Given the description of an element on the screen output the (x, y) to click on. 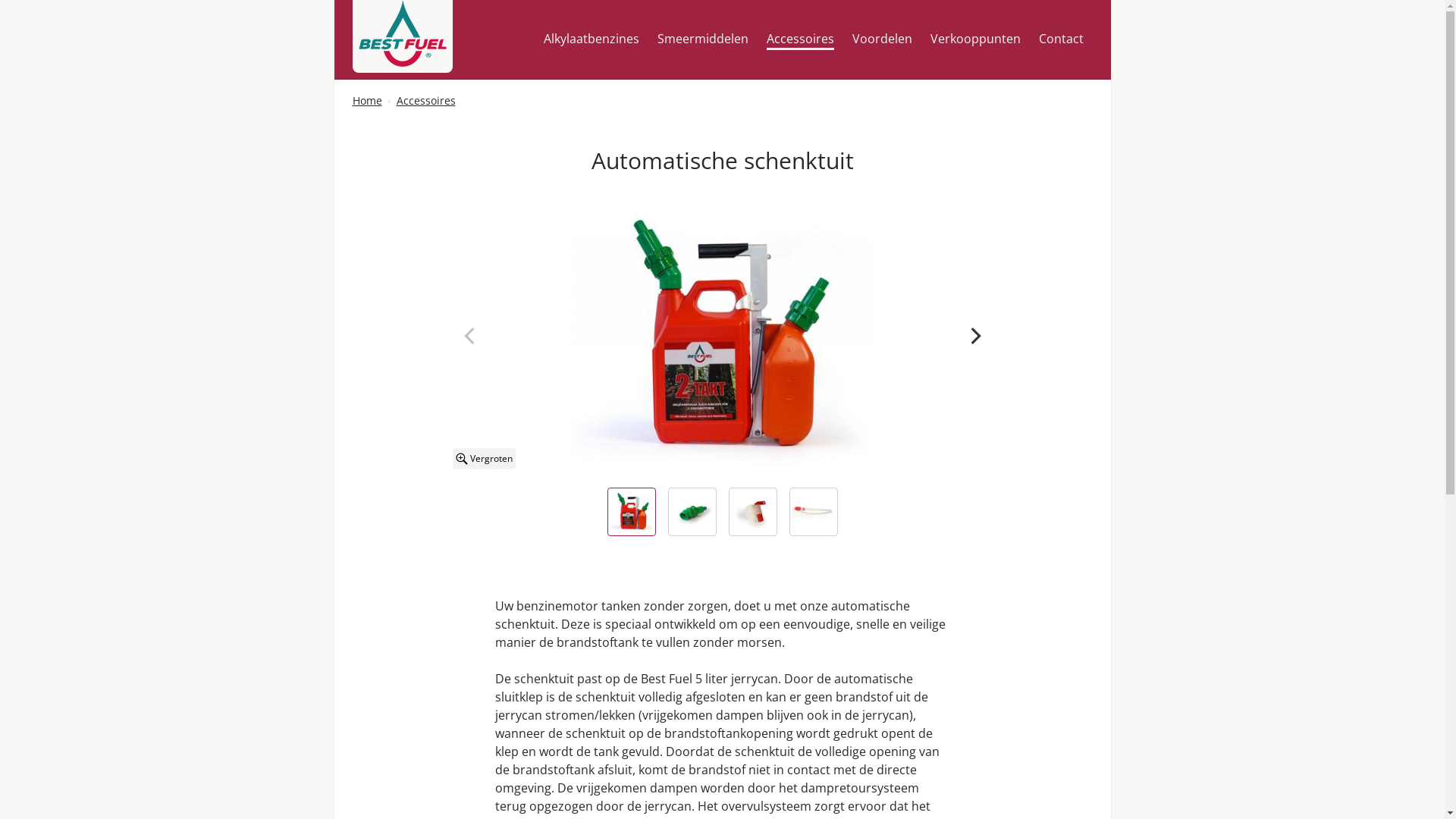
Accessoires Element type: text (425, 100)
Verkooppunten Element type: text (974, 38)
Accessoires Element type: text (799, 38)
Voordelen Element type: text (882, 38)
Alkylaatbenzines Element type: text (590, 38)
Contact Element type: text (1060, 38)
Smeermiddelen Element type: text (701, 38)
Vergroten Element type: text (482, 457)
Home Element type: text (366, 100)
